Given the description of an element on the screen output the (x, y) to click on. 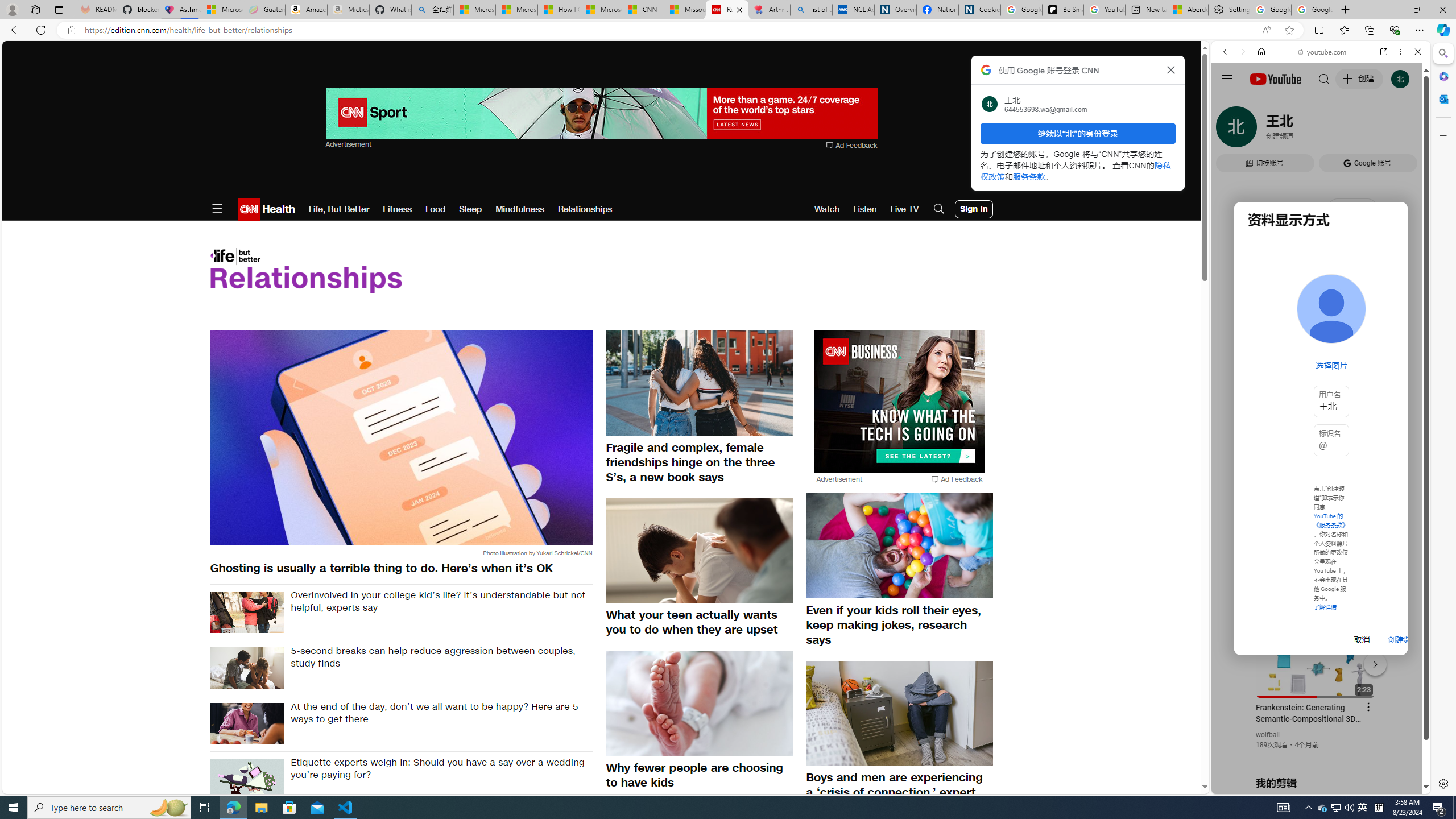
Actions for this site (1371, 661)
YouTube (1315, 655)
Google (1266, 331)
Google (1320, 281)
Search videos from youtube.com (1299, 373)
